Given the description of an element on the screen output the (x, y) to click on. 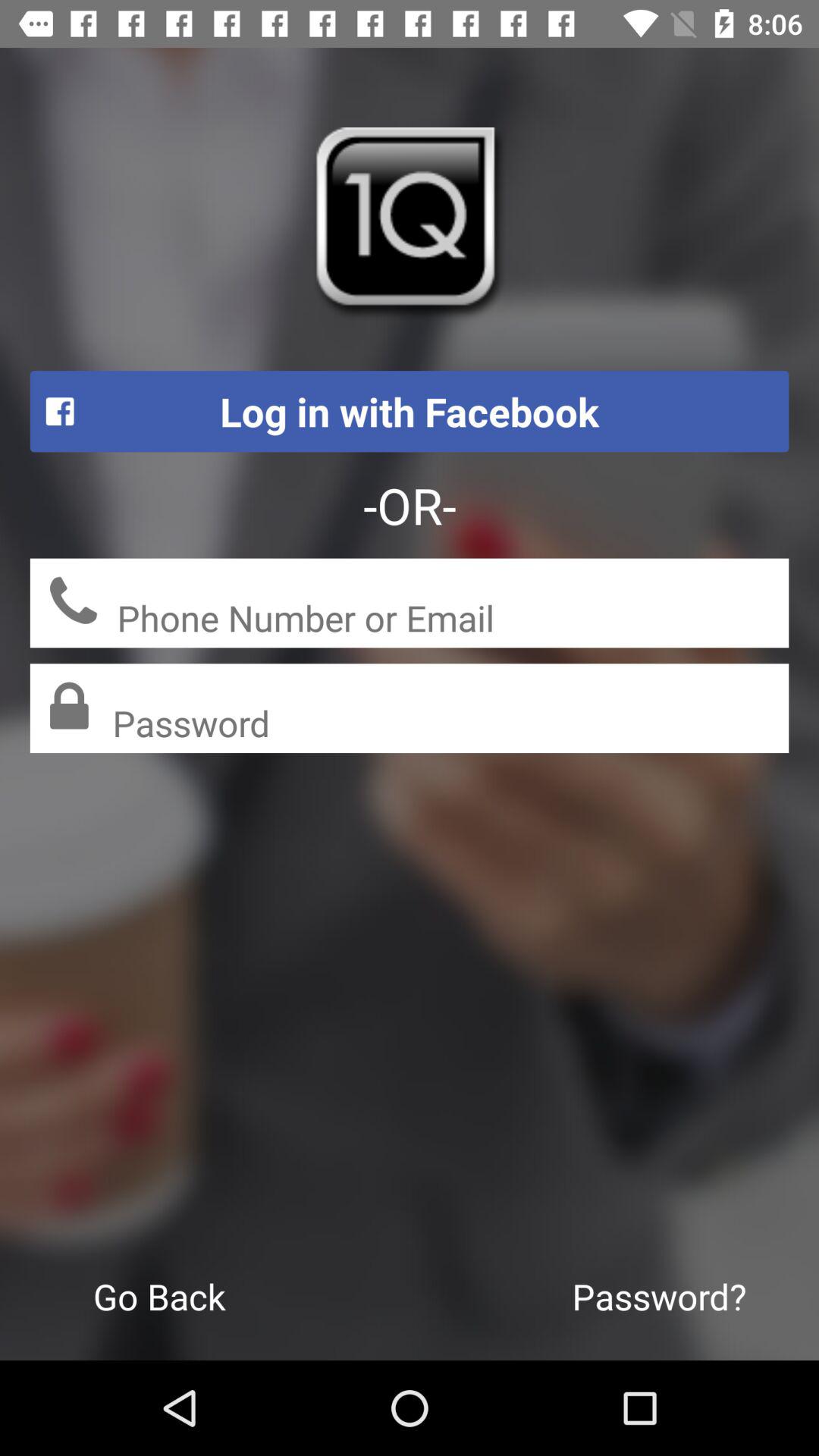
select go back at the bottom left corner (159, 1296)
